Given the description of an element on the screen output the (x, y) to click on. 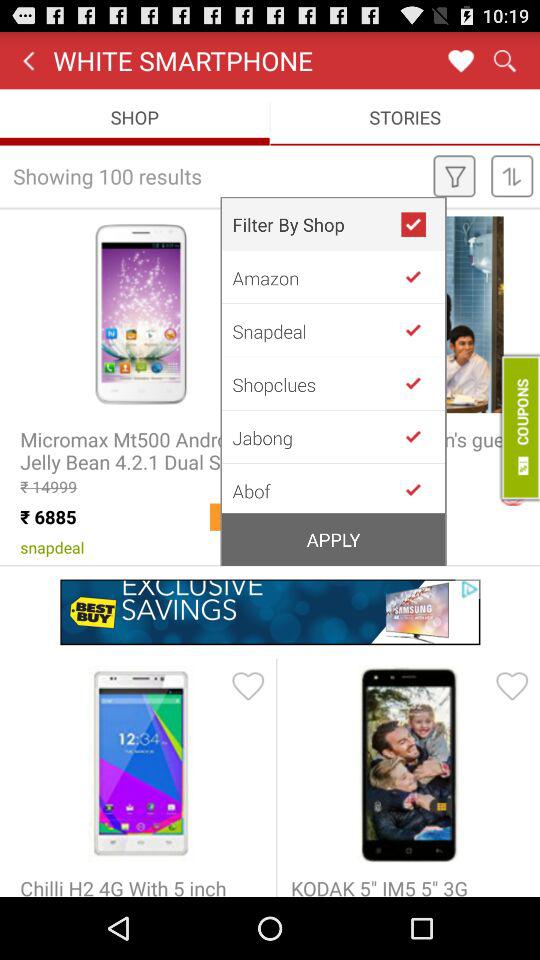
tap app below the filter by shop icon (316, 277)
